Given the description of an element on the screen output the (x, y) to click on. 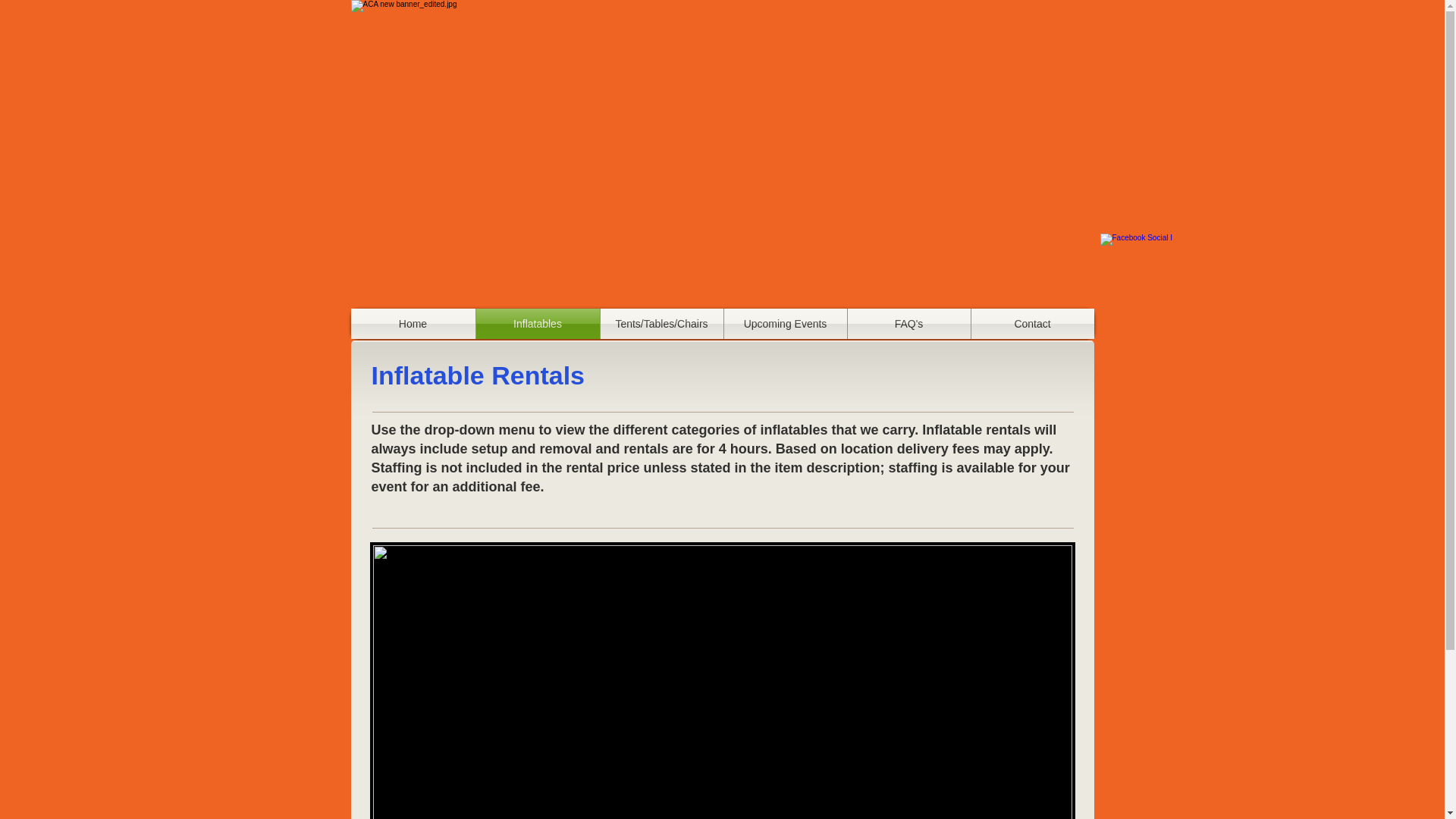
Upcoming Events (784, 323)
FAQ's (909, 323)
Home (412, 323)
Contact (1032, 323)
Inflatables (537, 323)
